Given the description of an element on the screen output the (x, y) to click on. 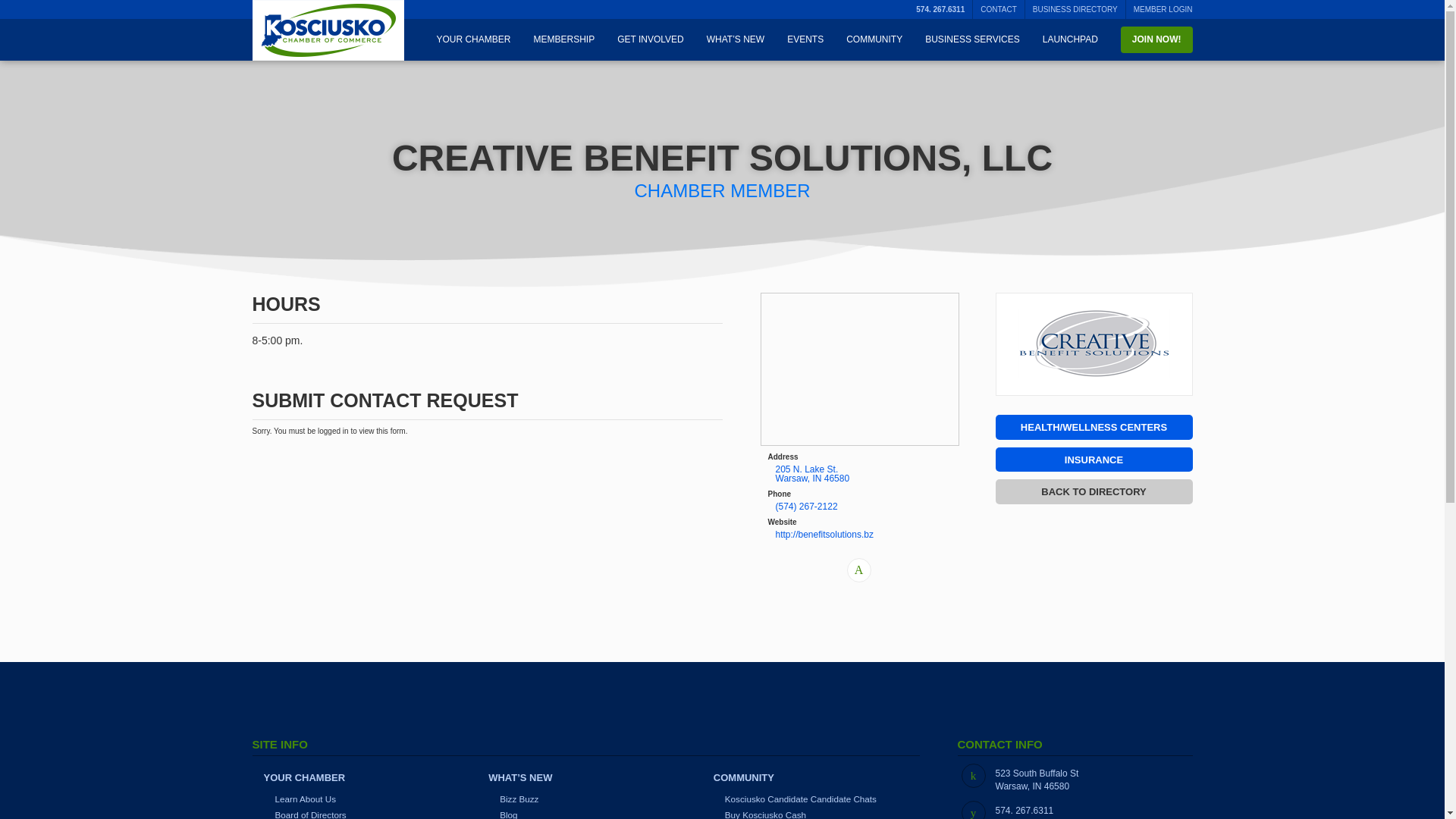
MEMBERSHIP (563, 39)
EVENTS (805, 39)
YOUR CHAMBER (473, 39)
GET INVOLVED (650, 39)
Kosciusko Chamber of Commerce (327, 30)
